Given the description of an element on the screen output the (x, y) to click on. 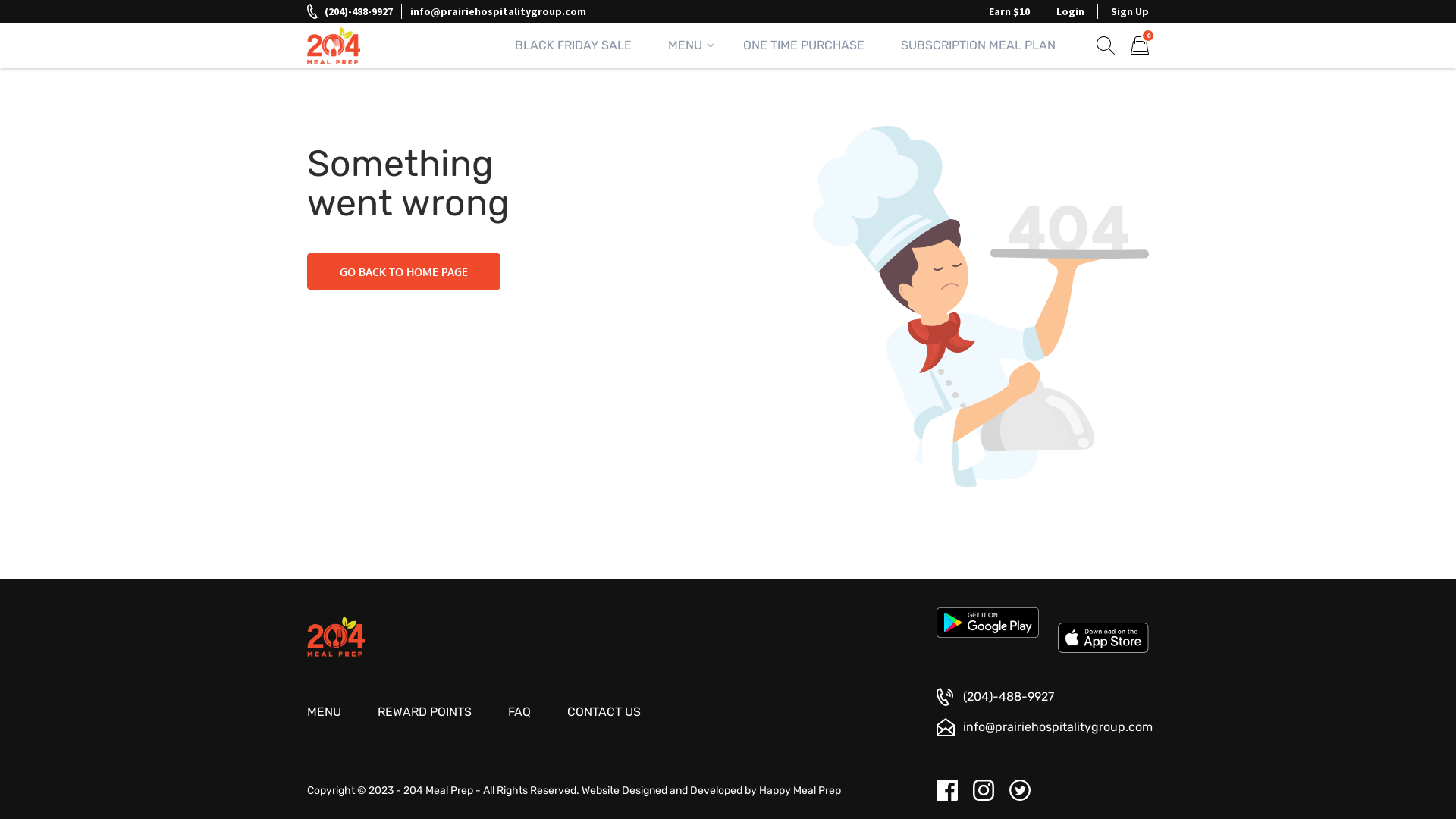
REWARD POINTS Element type: text (424, 711)
Sign Up Element type: text (1129, 11)
MENU Element type: text (323, 711)
ONE TIME PURCHASE Element type: text (803, 45)
Show search form Element type: text (1105, 44)
info@prairiehospitalitygroup.com Element type: text (1044, 727)
(204)-488-9927 Element type: text (349, 10)
Twitter Element type: hover (1019, 789)
BLACK FRIDAY SALE Element type: text (572, 45)
SUBSCRIPTION MEAL PLAN Element type: text (977, 45)
0
Items in cart Element type: text (1139, 45)
Instagram Element type: hover (983, 789)
Not found Element type: hover (980, 313)
Facebook Element type: hover (946, 789)
GO BACK TO HOME PAGE Element type: text (403, 271)
Login Element type: text (1070, 11)
Happy Meal Prep Element type: text (799, 790)
(204)-488-9927 Element type: text (995, 696)
Earn $10 Element type: text (1008, 11)
FAQ Element type: text (519, 711)
info@prairiehospitalitygroup.com Element type: text (498, 10)
MENU Element type: text (686, 45)
CONTACT US Element type: text (603, 711)
